Given the description of an element on the screen output the (x, y) to click on. 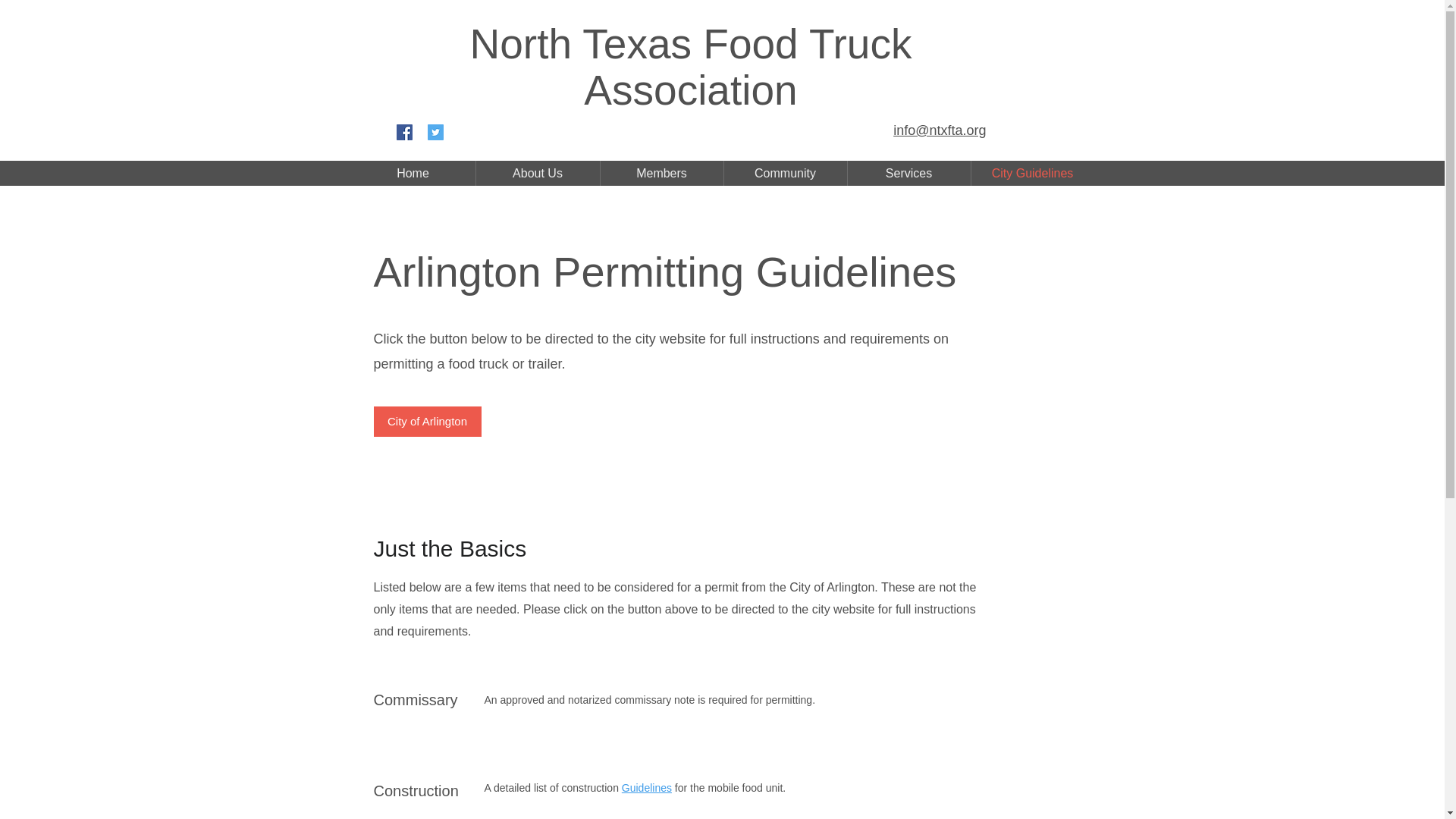
City of Arlington (426, 421)
Guidelines (646, 787)
Home (412, 172)
About Us (537, 172)
Community (784, 172)
City Guidelines (1032, 172)
Members (661, 172)
North Texas Food Truck Association (691, 66)
Services (909, 172)
